Given the description of an element on the screen output the (x, y) to click on. 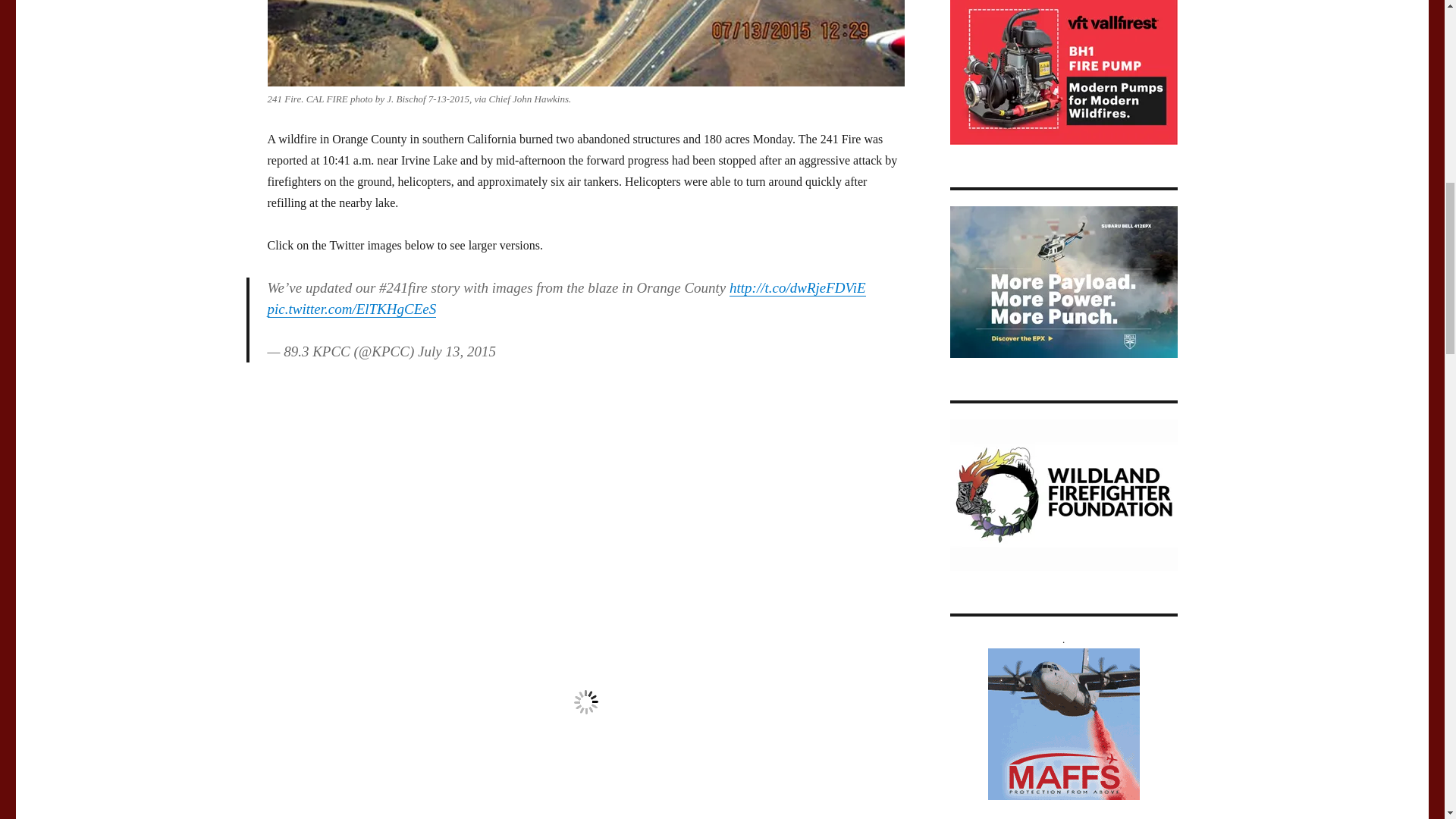
MAFFS (1062, 724)
